Given the description of an element on the screen output the (x, y) to click on. 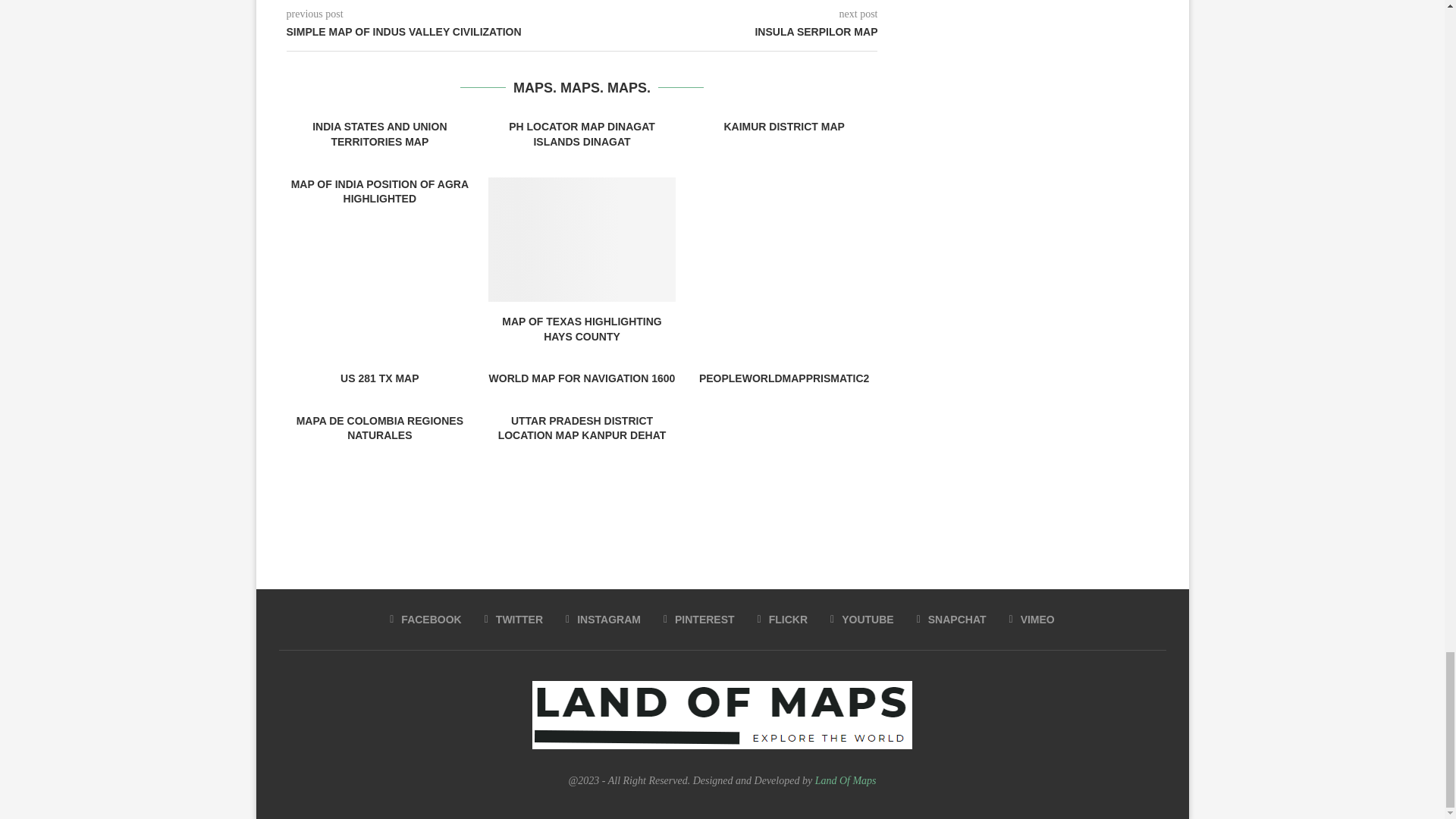
Map Of Texas Highlighting Hays County (581, 239)
